Given the description of an element on the screen output the (x, y) to click on. 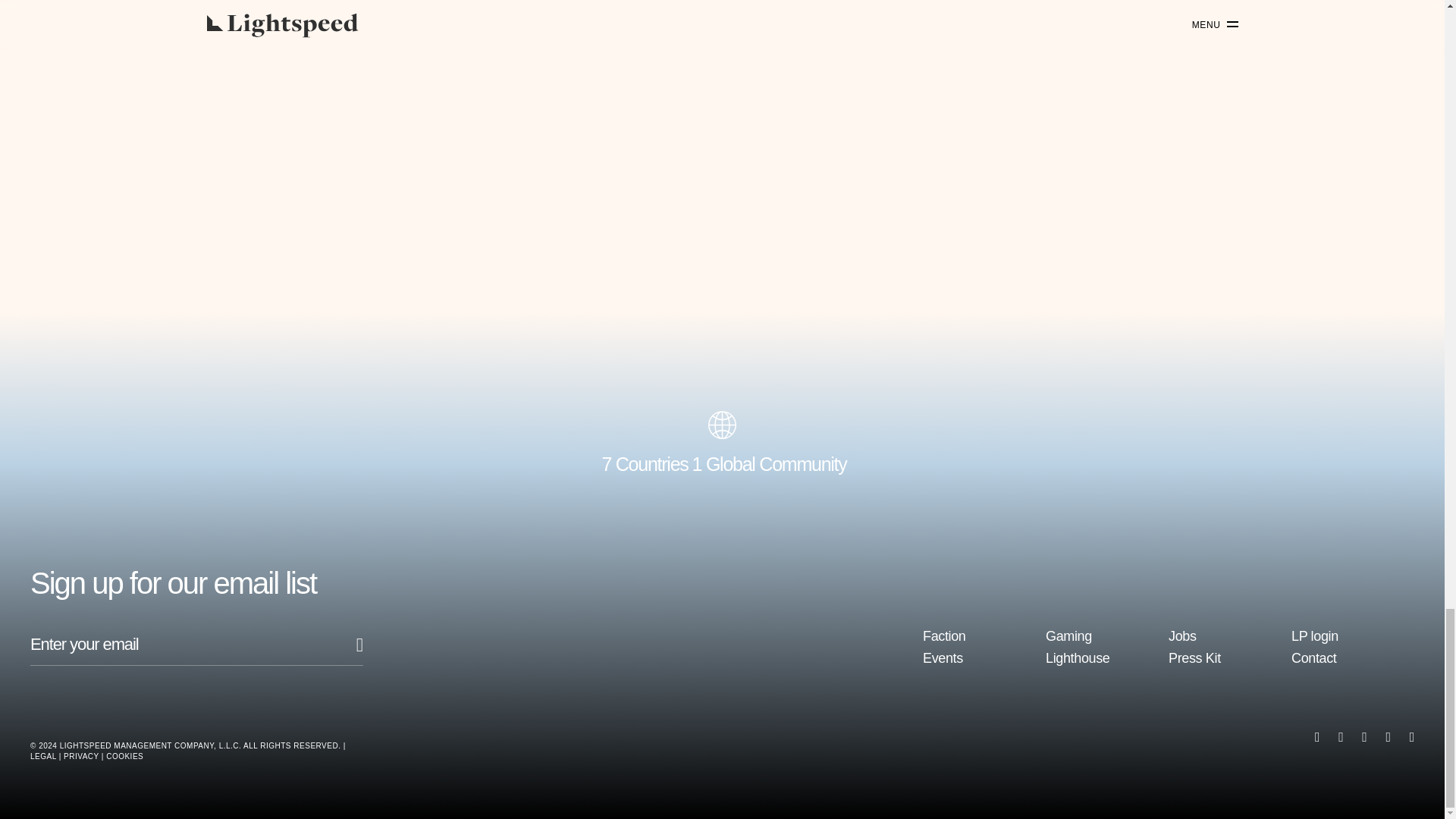
LP login (1314, 635)
Events (942, 657)
Gaming (1068, 635)
Jobs (1182, 635)
Faction (944, 635)
